Given the description of an element on the screen output the (x, y) to click on. 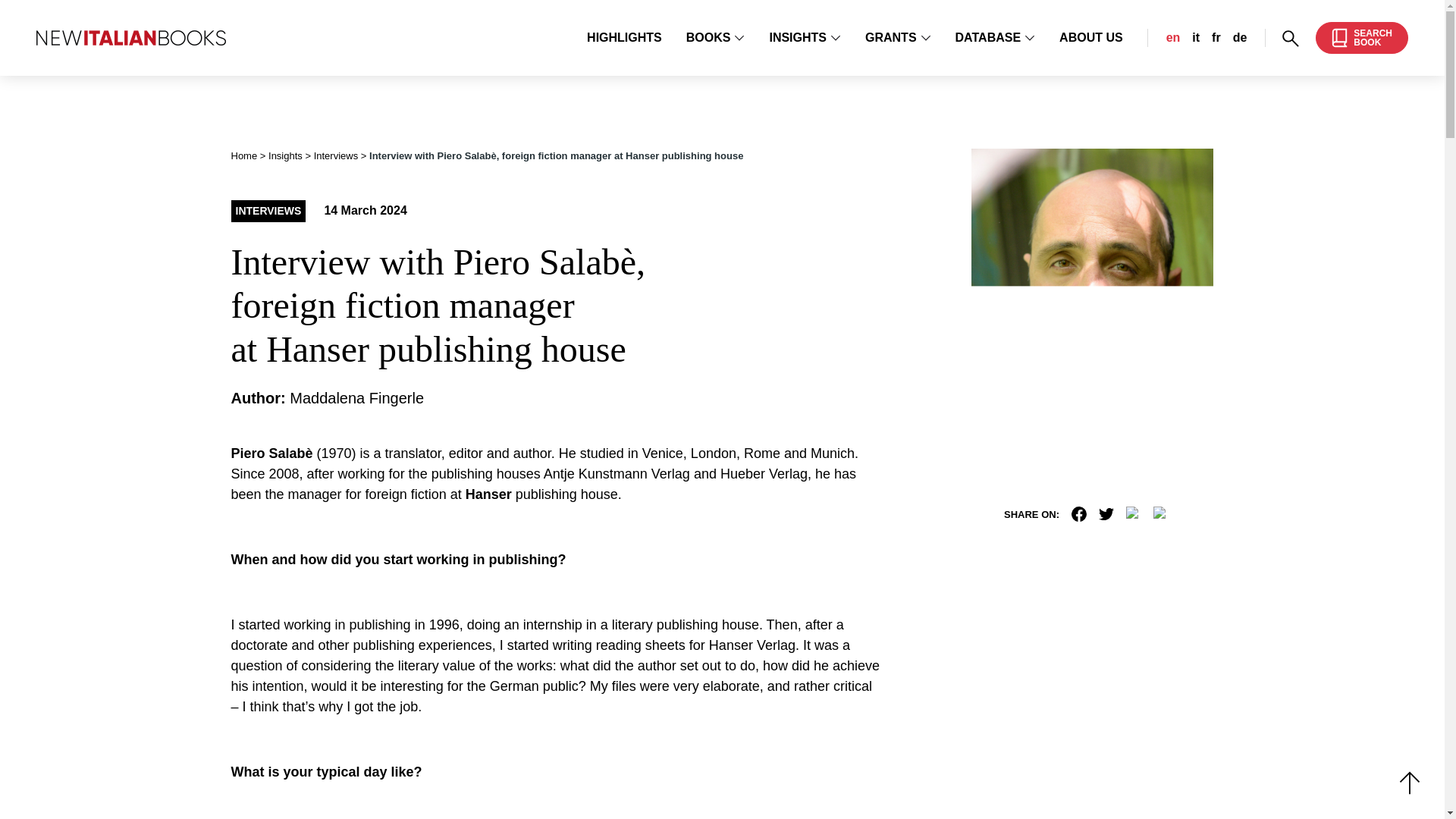
GRANTS (897, 37)
ABOUT US (1090, 37)
de (1240, 37)
Home (243, 155)
HIGHLIGHTS (624, 37)
BOOKS (1361, 38)
Facebook (715, 37)
Go to Interviews. (1078, 513)
DATABASE (336, 155)
